Given the description of an element on the screen output the (x, y) to click on. 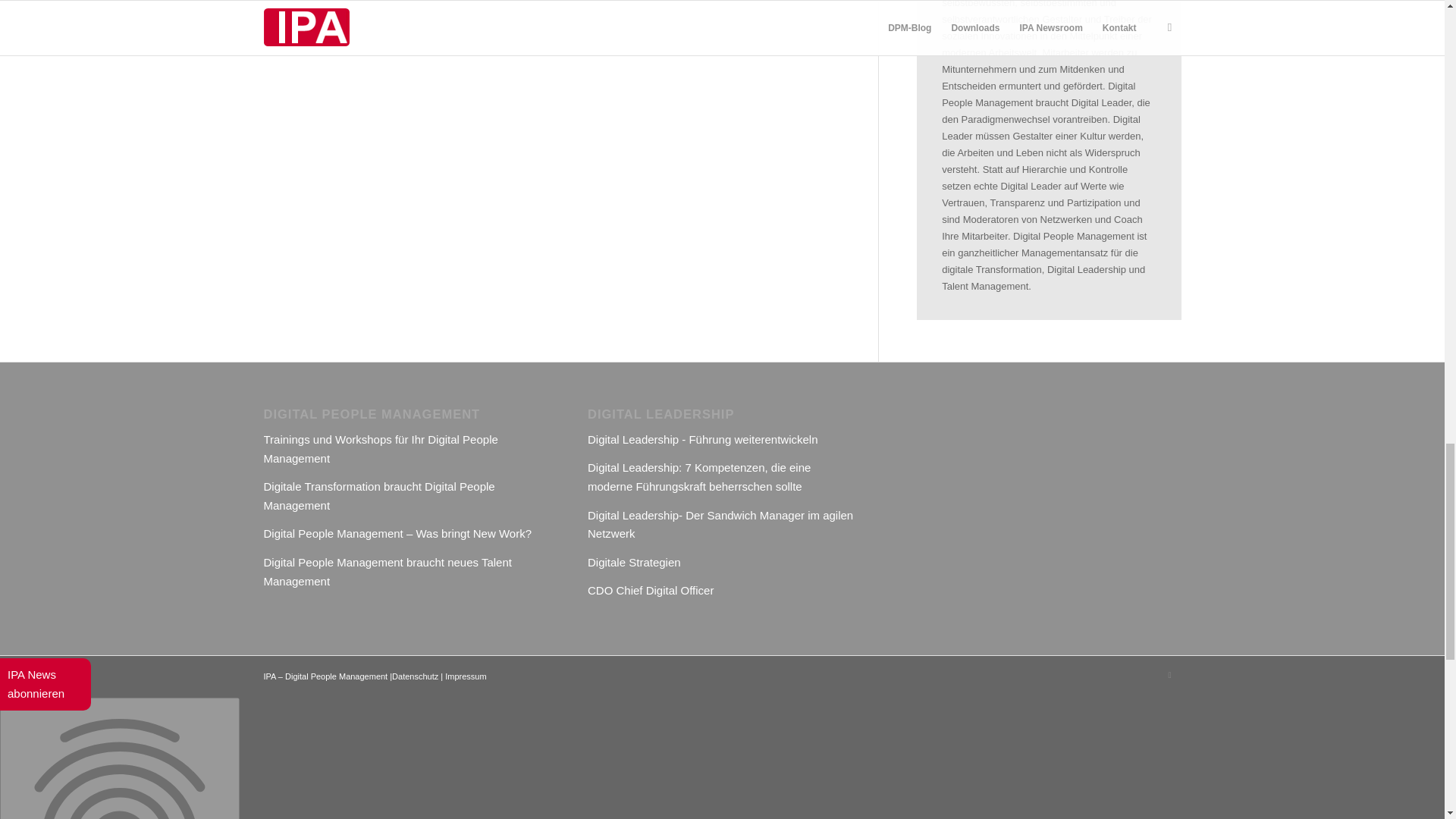
CDO Chief Digital Officer (650, 590)
Digital People Management braucht neues Talent Management (387, 572)
Digitale Transformation braucht Digital People Management (379, 495)
Rss (1169, 674)
Digital Leadership- Der Sandwich Manager im agilen Netzwerk (720, 524)
